Given the description of an element on the screen output the (x, y) to click on. 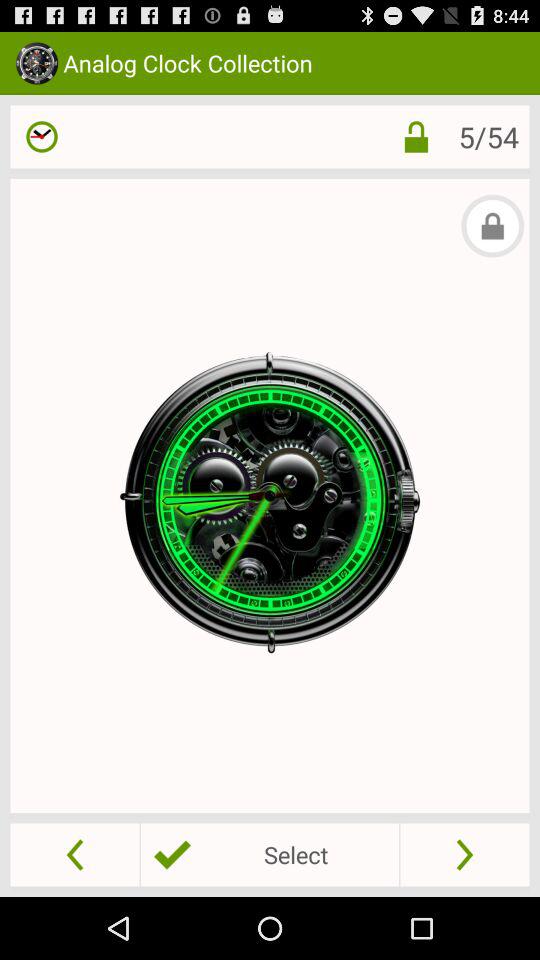
select next (464, 854)
